Given the description of an element on the screen output the (x, y) to click on. 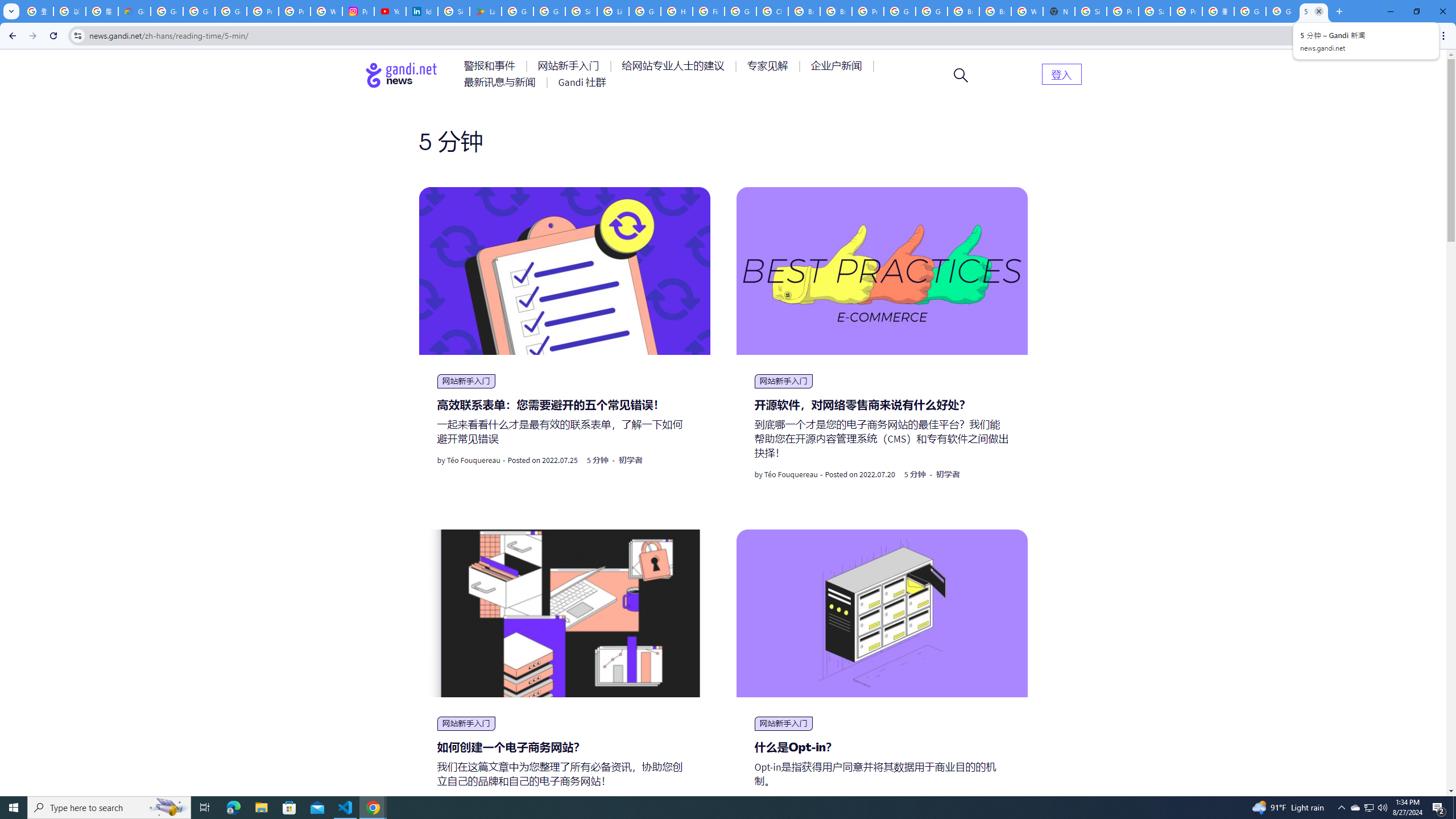
Google Workspace - Specific Terms (549, 11)
AutomationID: menu-item-77764 (769, 65)
Browse Chrome as a guest - Computer - Google Chrome Help (804, 11)
